Given the description of an element on the screen output the (x, y) to click on. 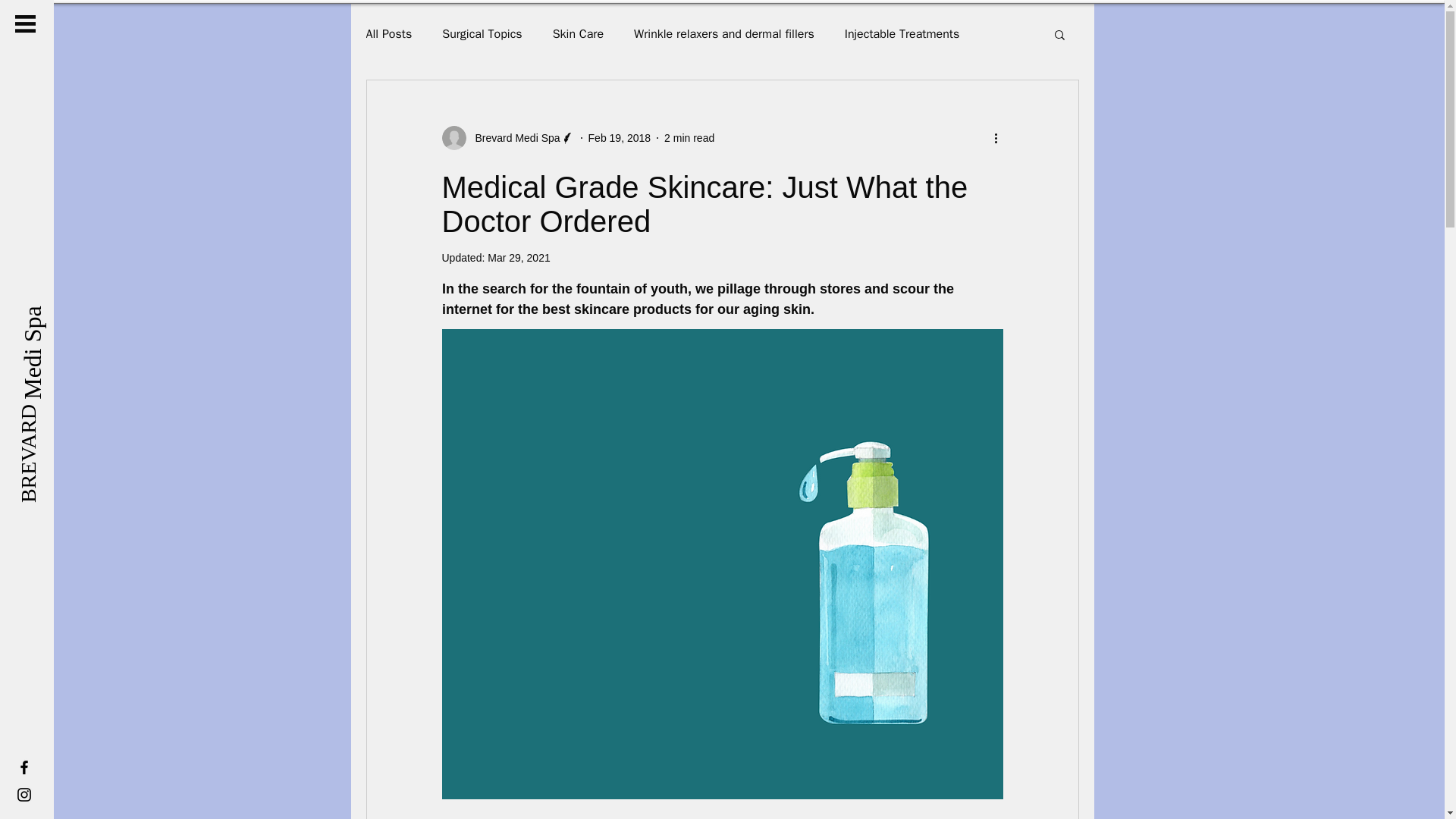
Feb 19, 2018 (619, 137)
Injectable Treatments (901, 33)
Medi Spa (76, 305)
All Posts (388, 33)
Brevard Medi Spa (512, 138)
Surgical Topics (481, 33)
Skin Care (578, 33)
Mar 29, 2021 (518, 257)
Wrinkle relaxers and dermal fillers (723, 33)
BREVARD (67, 414)
